Given the description of an element on the screen output the (x, y) to click on. 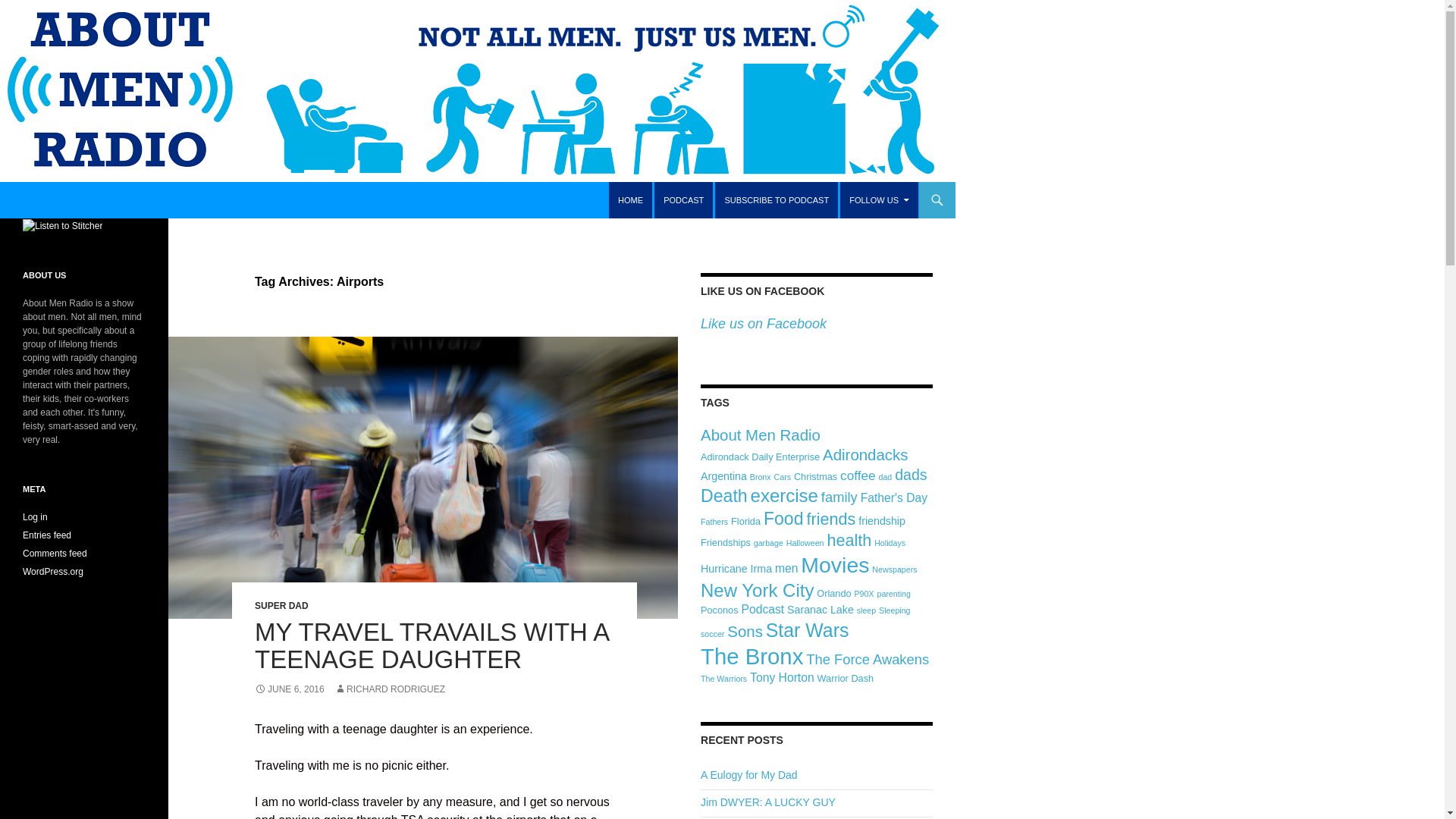
SUPER DAD (281, 605)
About Men Radio (79, 199)
RICHARD RODRIGUEZ (389, 688)
MY TRAVEL TRAVAILS WITH A TEENAGE DAUGHTER (431, 645)
PODCAST (683, 199)
HOME (630, 199)
Adirondack Daily Enterprise (759, 456)
SUBSCRIBE TO PODCAST (776, 199)
About Men Radio (760, 434)
JUNE 6, 2016 (289, 688)
FOLLOW US (879, 199)
Like us on Facebook (763, 323)
LIKE US ON FACEBOOK (762, 291)
